Given the description of an element on the screen output the (x, y) to click on. 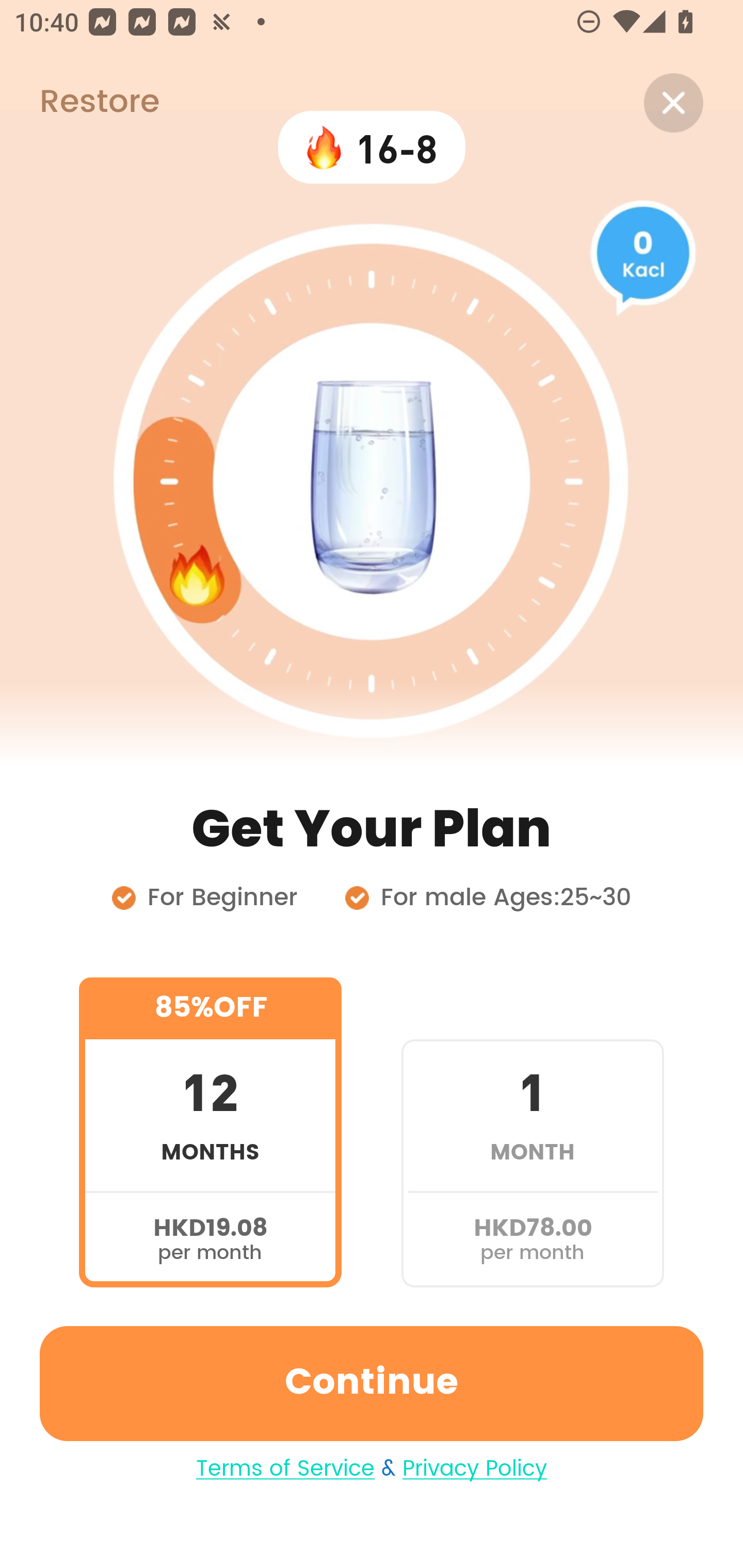
Restore (79, 102)
85%OFF 12 MONTHS per month HKD19.08 (209, 1131)
1 MONTH per month HKD78.00 (532, 1131)
Continue (371, 1383)
